Given the description of an element on the screen output the (x, y) to click on. 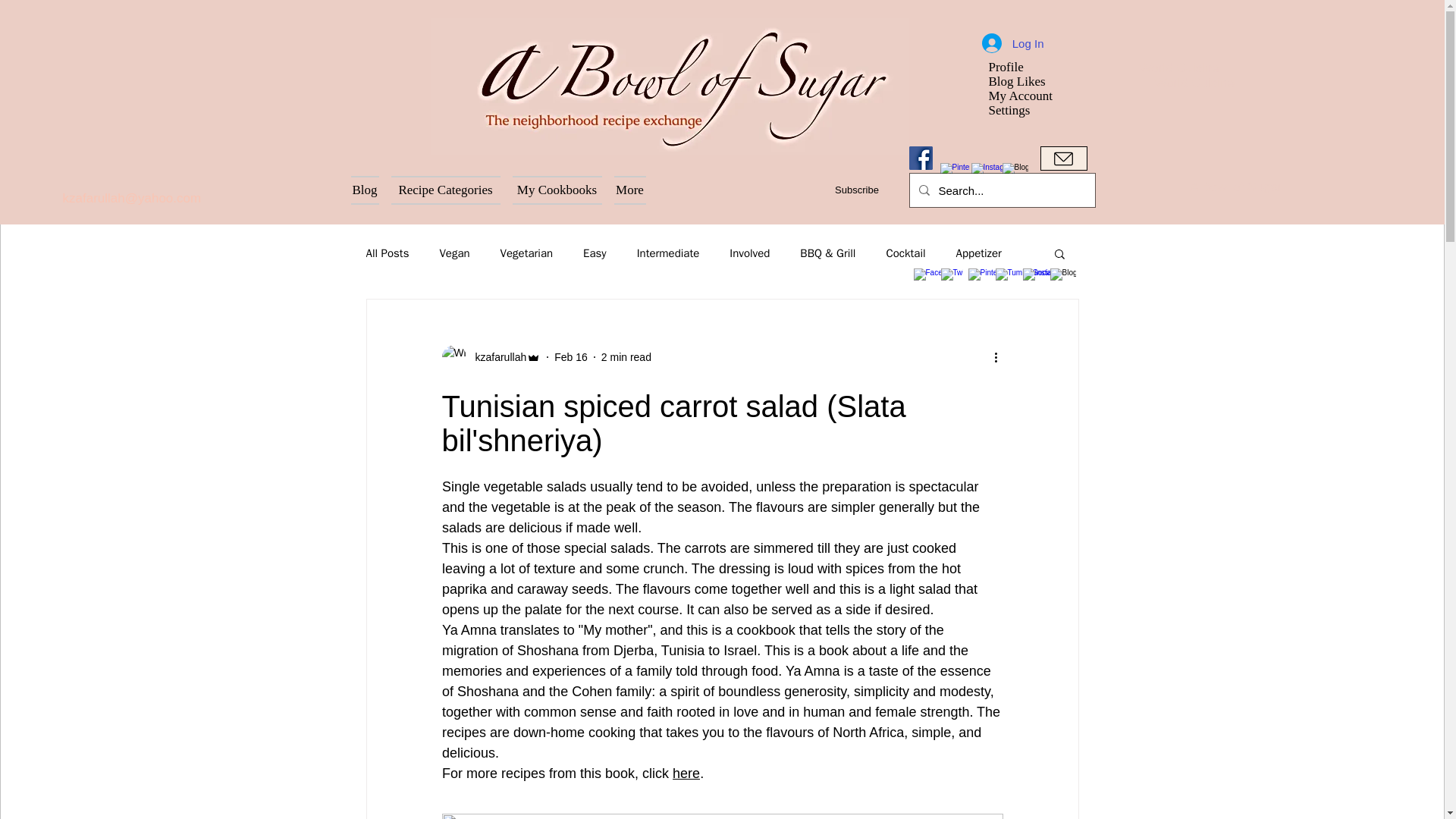
Settings (1026, 110)
Vegetarian (526, 252)
My Cookbooks (557, 190)
Subscribe (856, 190)
Feb 16 (571, 356)
Blog Likes (1026, 81)
Appetizer (978, 252)
My Account (1026, 95)
Intermediate (668, 252)
Log In (1012, 42)
2 min read (625, 356)
Cocktail (904, 252)
Easy (595, 252)
Blog (367, 190)
Vegan (453, 252)
